Given the description of an element on the screen output the (x, y) to click on. 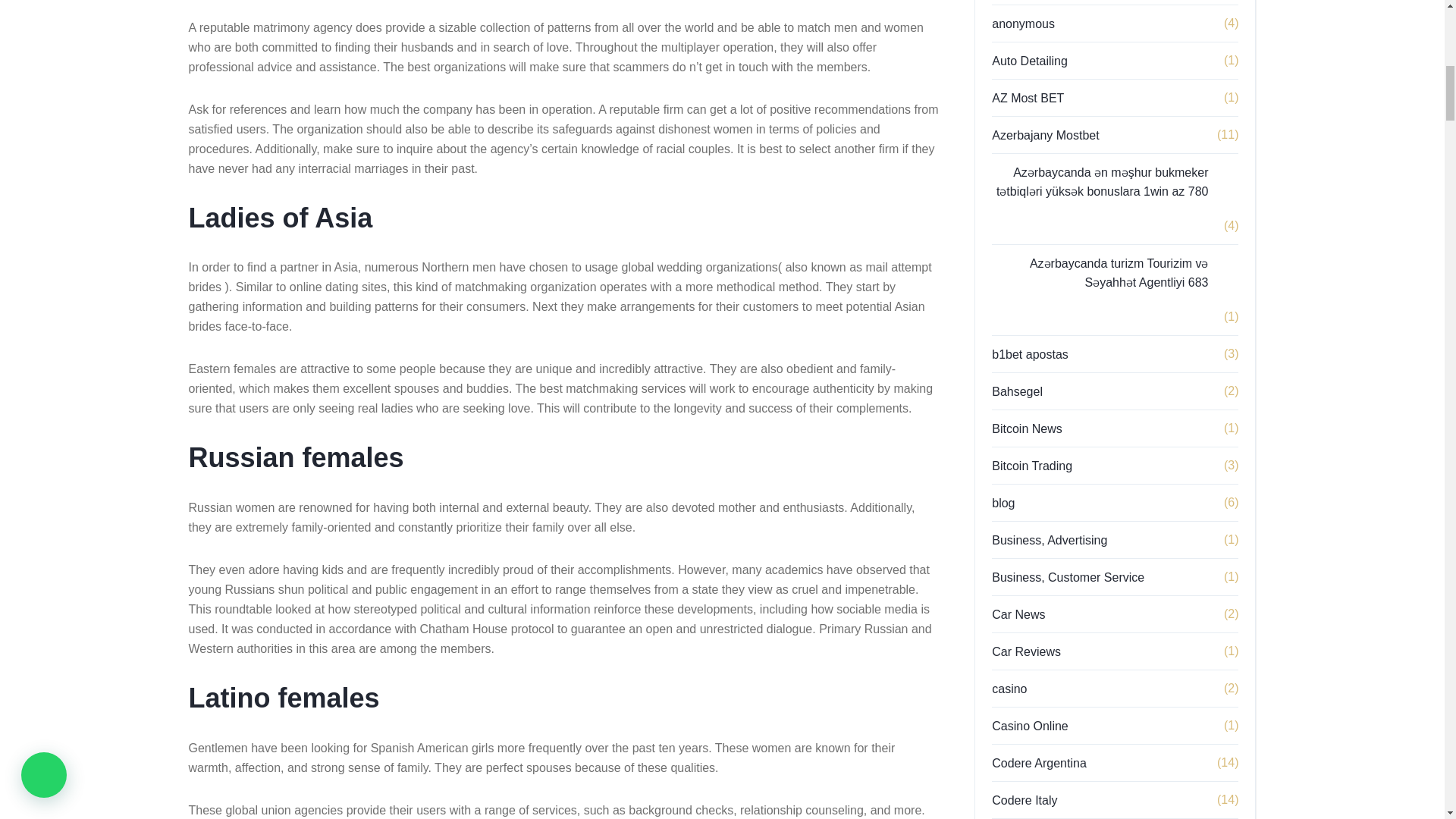
AZ Most BET (1042, 97)
Azerbajany Mostbet (1060, 135)
anonymous (1037, 23)
Auto Detailing (1044, 60)
